Given the description of an element on the screen output the (x, y) to click on. 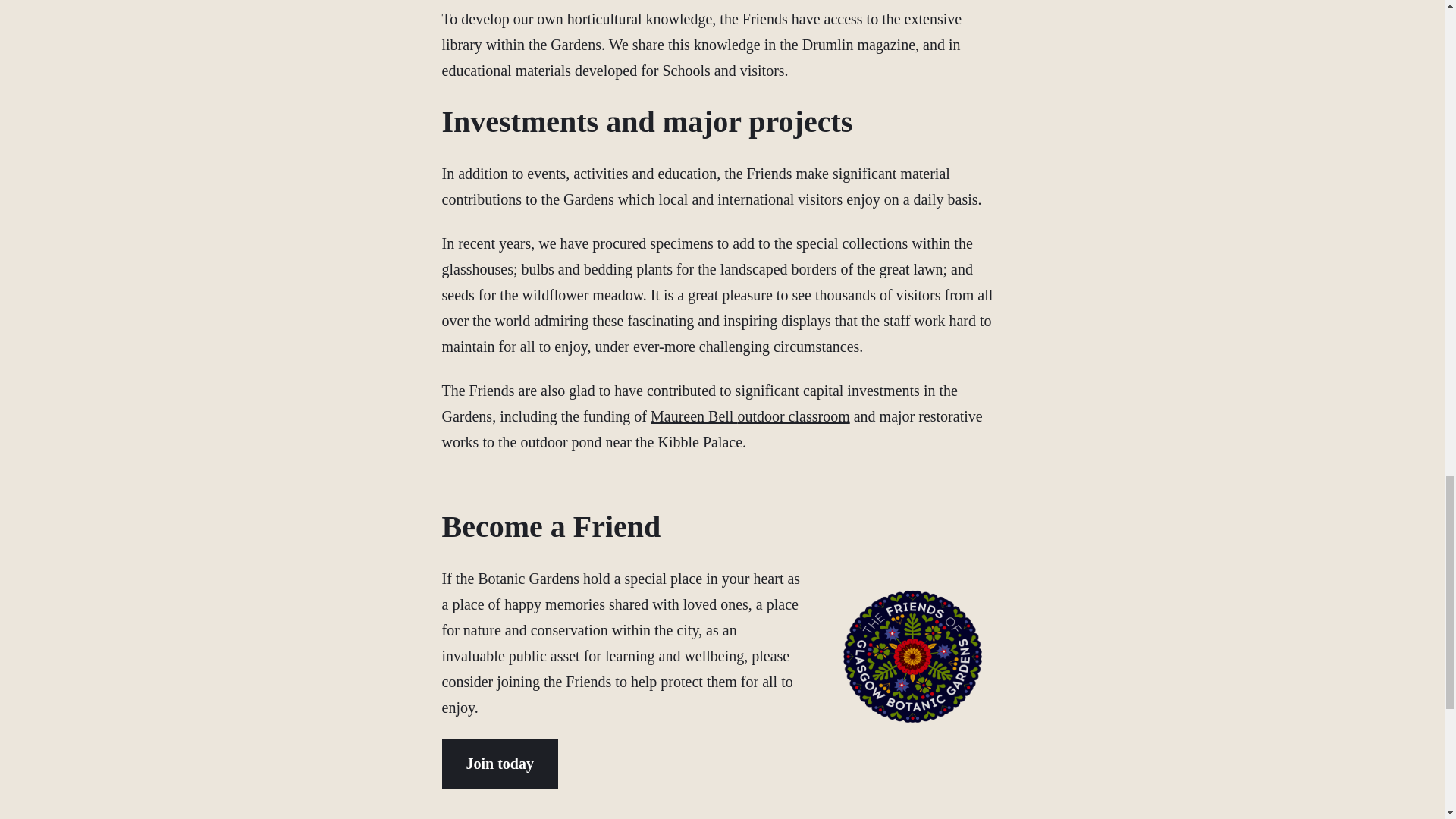
Join today (499, 763)
Maureen Bell (693, 416)
outdoor classroom (792, 416)
